Given the description of an element on the screen output the (x, y) to click on. 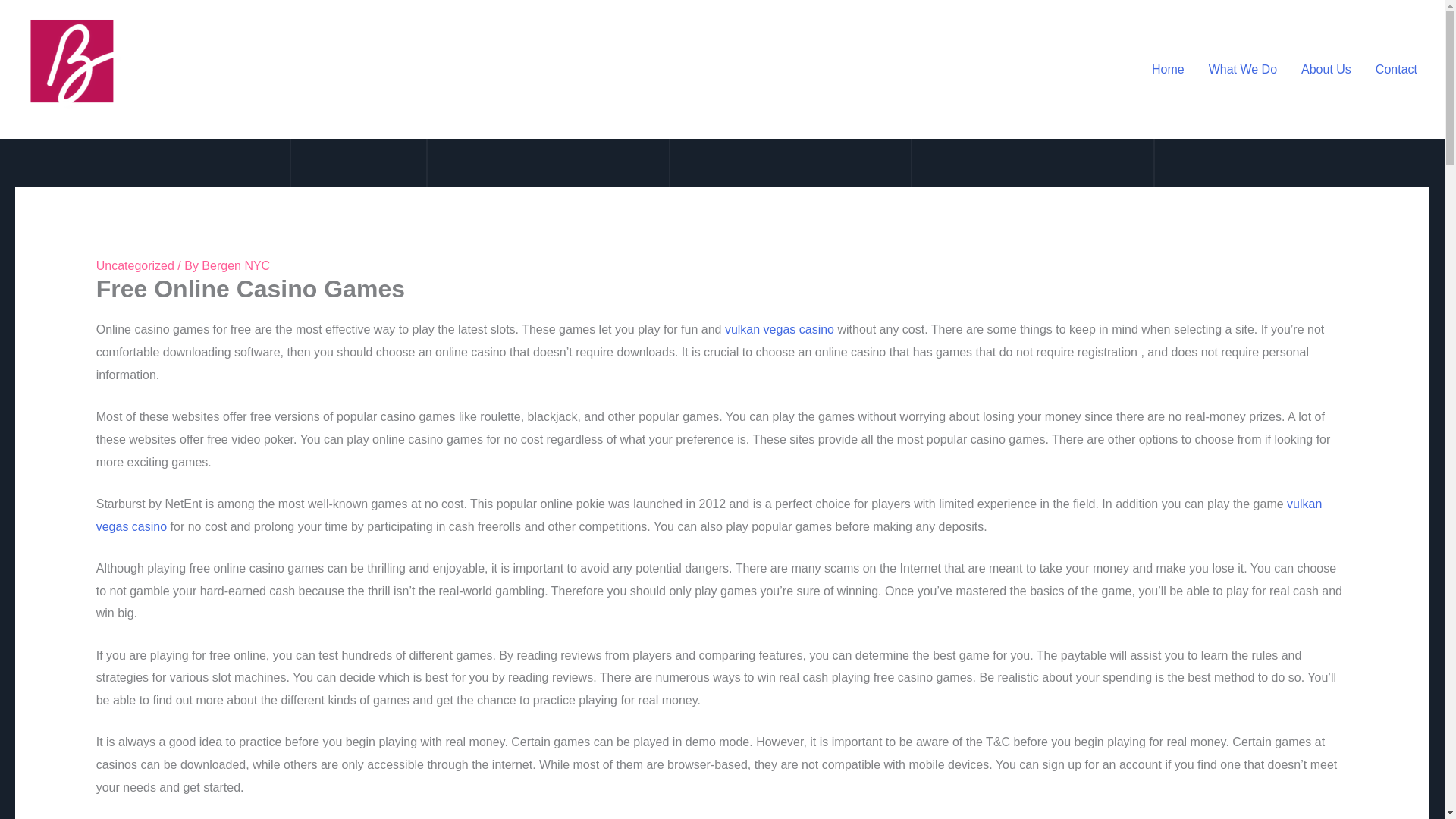
Bergen NYC (235, 265)
vulkan vegas casino (779, 328)
Uncategorized (135, 265)
Home (1168, 69)
vulkan vegas casino (709, 515)
View all posts by Bergen NYC (235, 265)
Contact (1395, 69)
About Us (1325, 69)
What We Do (1242, 69)
